Given the description of an element on the screen output the (x, y) to click on. 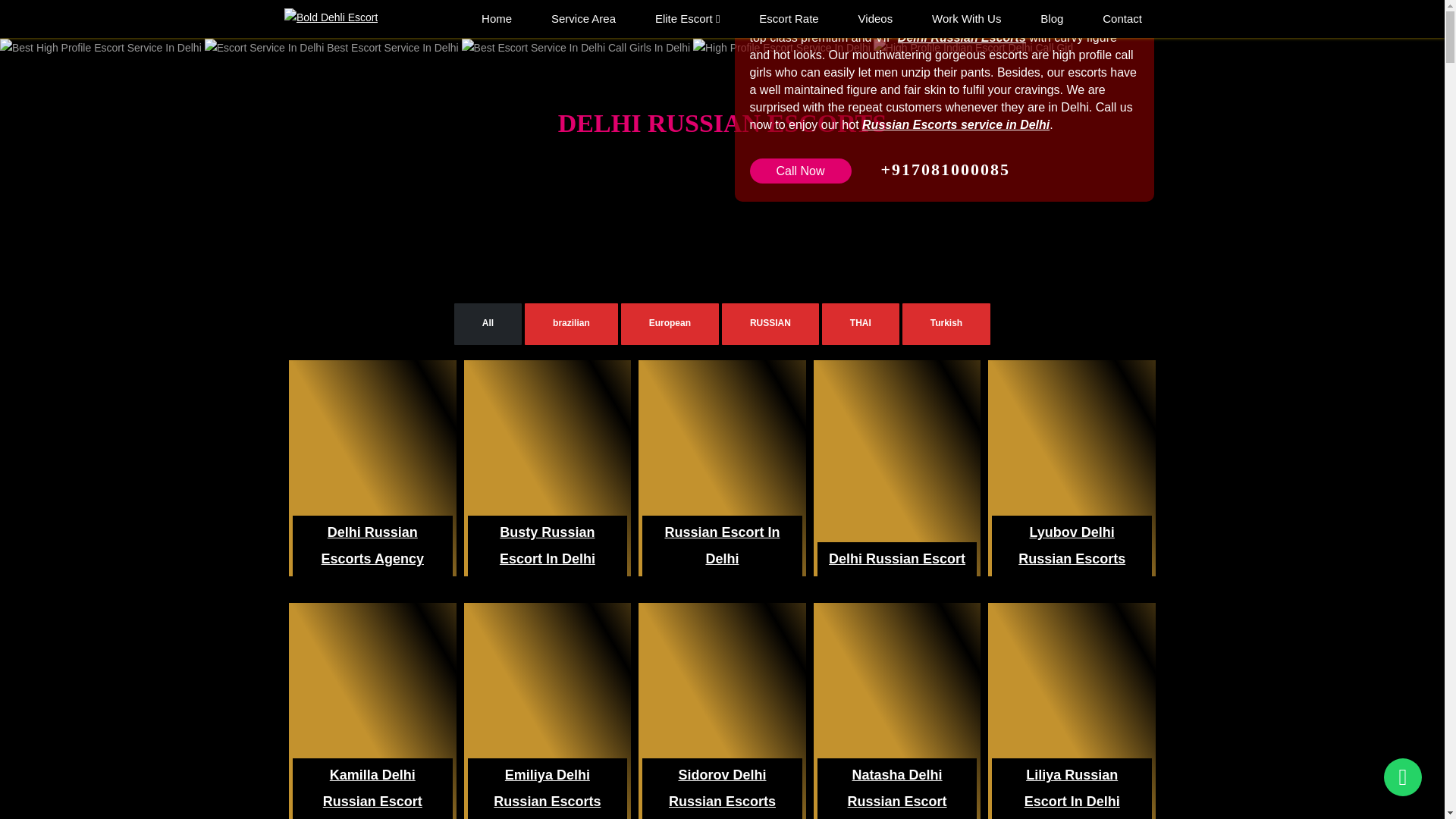
Call Now (799, 170)
Elite Escort (687, 18)
Service Area (583, 18)
Busty Russian Escort In Delhi (547, 545)
Busty Russian Escort in Delhi (547, 545)
Delhi Russian Escorts (962, 37)
Contact (1121, 18)
Russian Escort In Delhi (720, 545)
Blog (1051, 18)
Delhi Russian Escorts Agency (372, 545)
